Given the description of an element on the screen output the (x, y) to click on. 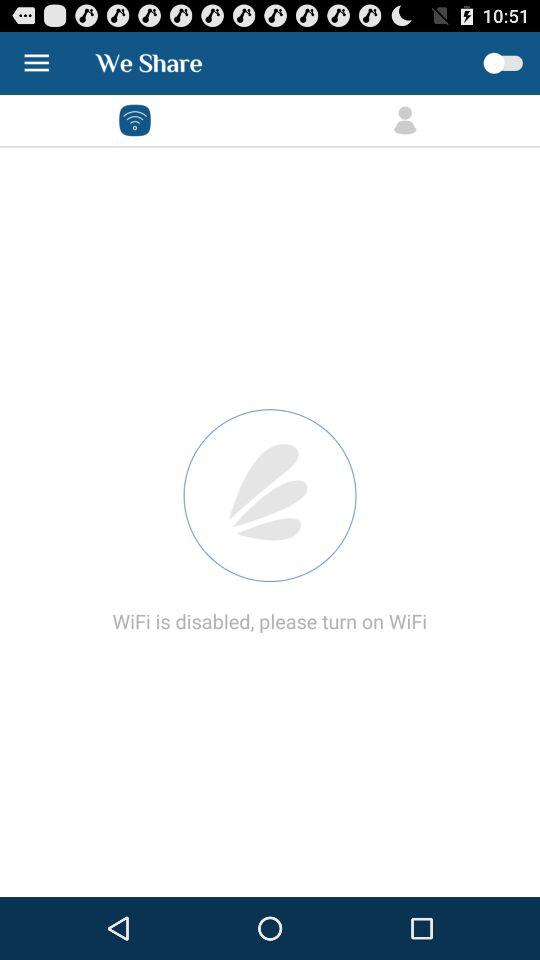
tap the item above the wifi is disabled (269, 495)
